Given the description of an element on the screen output the (x, y) to click on. 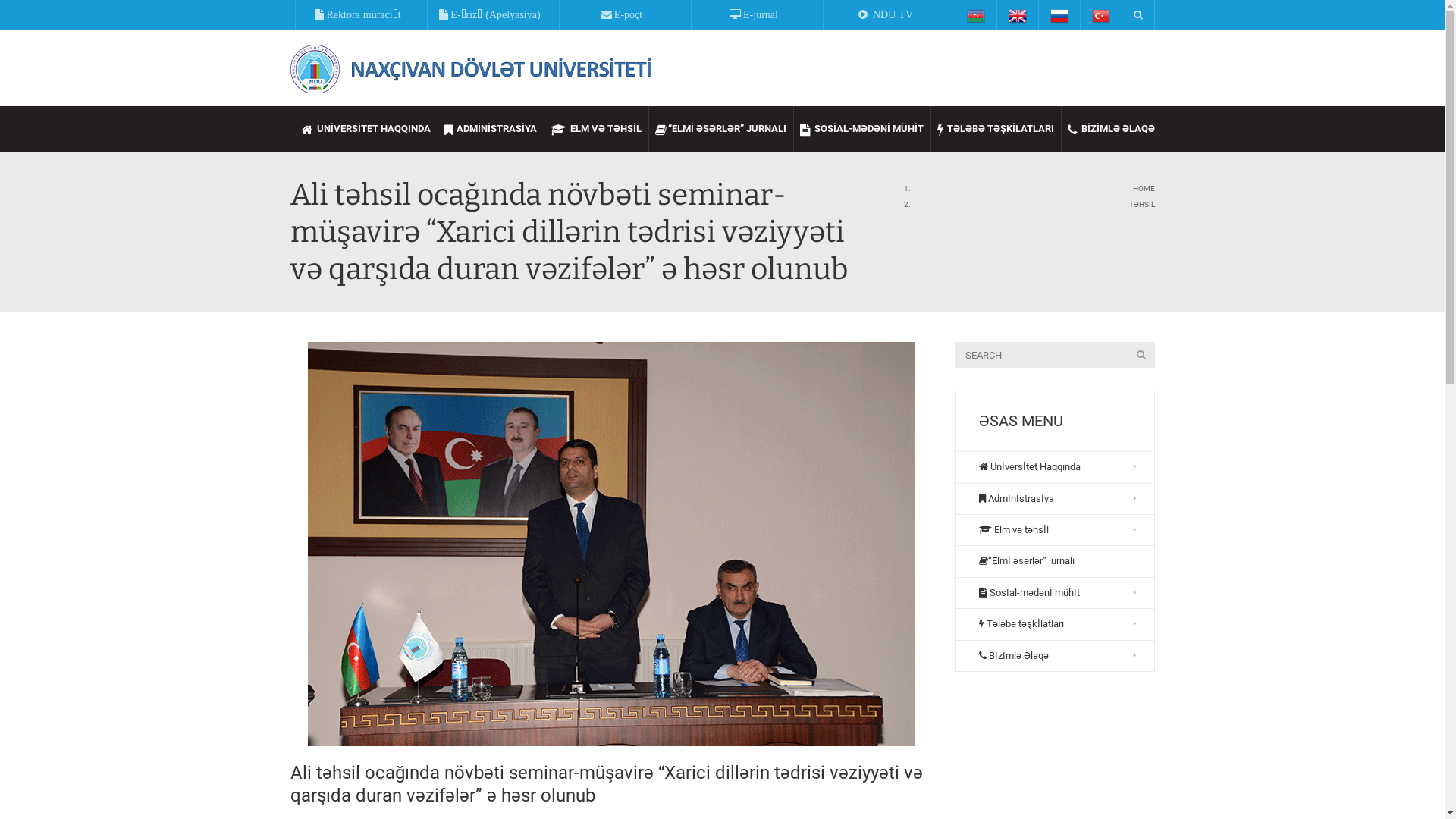
  NDU TV Element type: text (886, 15)
Search Element type: text (30, 16)
 E-jurnal Element type: text (754, 15)
HOME Element type: text (1143, 188)
English Element type: hover (1017, 15)
